Given the description of an element on the screen output the (x, y) to click on. 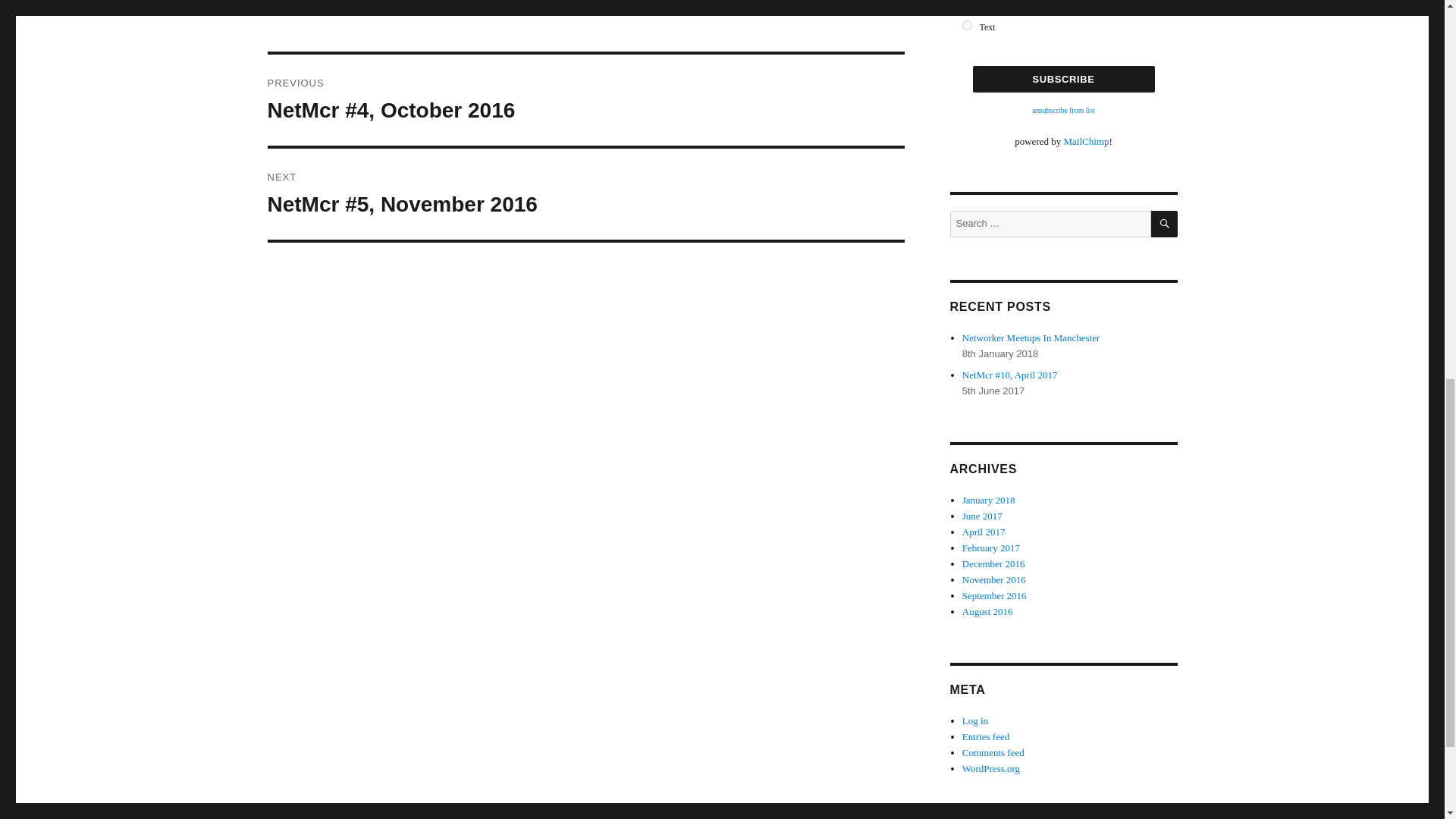
html (967, 9)
Networker Meetups In Manchester (1031, 337)
November 2016 (994, 579)
April 2017 (984, 531)
January 2018 (988, 500)
MailChimp (1085, 140)
December 2016 (993, 563)
August 2016 (987, 611)
SEARCH (1164, 223)
Entries feed (985, 736)
September 2016 (994, 595)
Comments feed (993, 752)
WordPress.org (991, 767)
Subscribe (1063, 79)
text (967, 25)
